Given the description of an element on the screen output the (x, y) to click on. 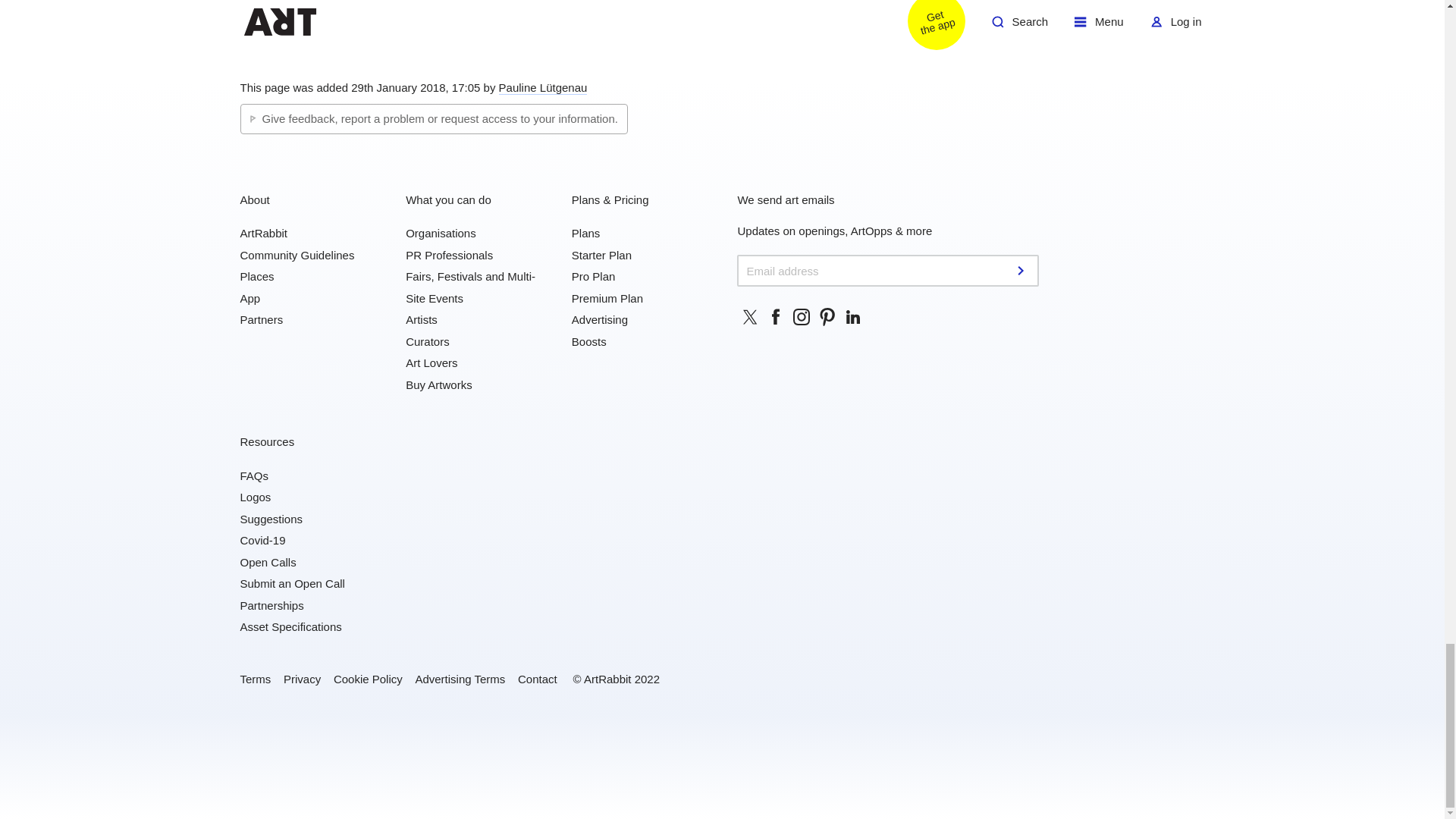
submit (1021, 270)
